Given the description of an element on the screen output the (x, y) to click on. 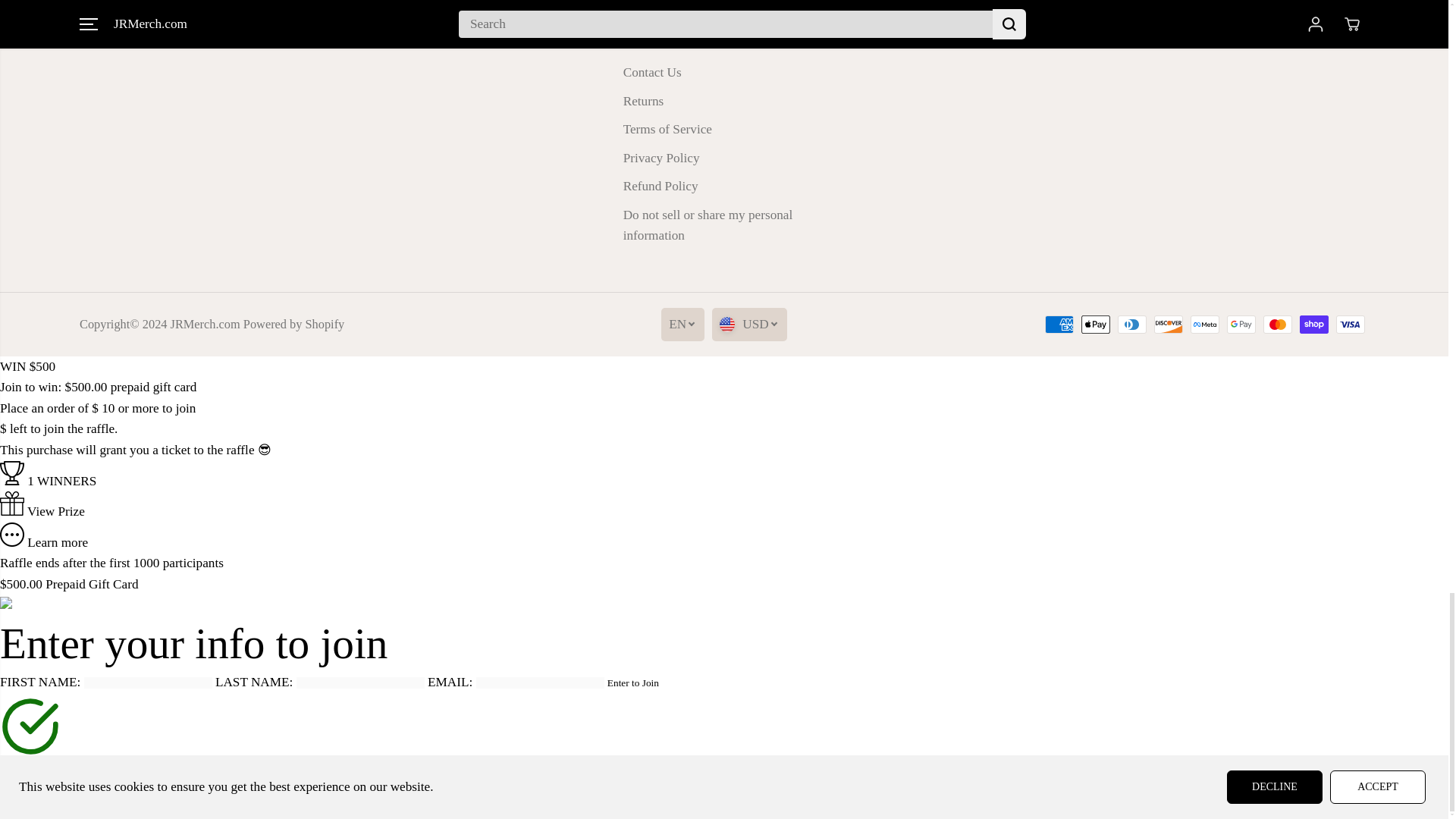
Apple Pay (1095, 324)
Discover (1168, 324)
American Express (1059, 324)
Google Pay (1241, 324)
Meta Pay (1205, 324)
Diners Club (1132, 324)
